Given the description of an element on the screen output the (x, y) to click on. 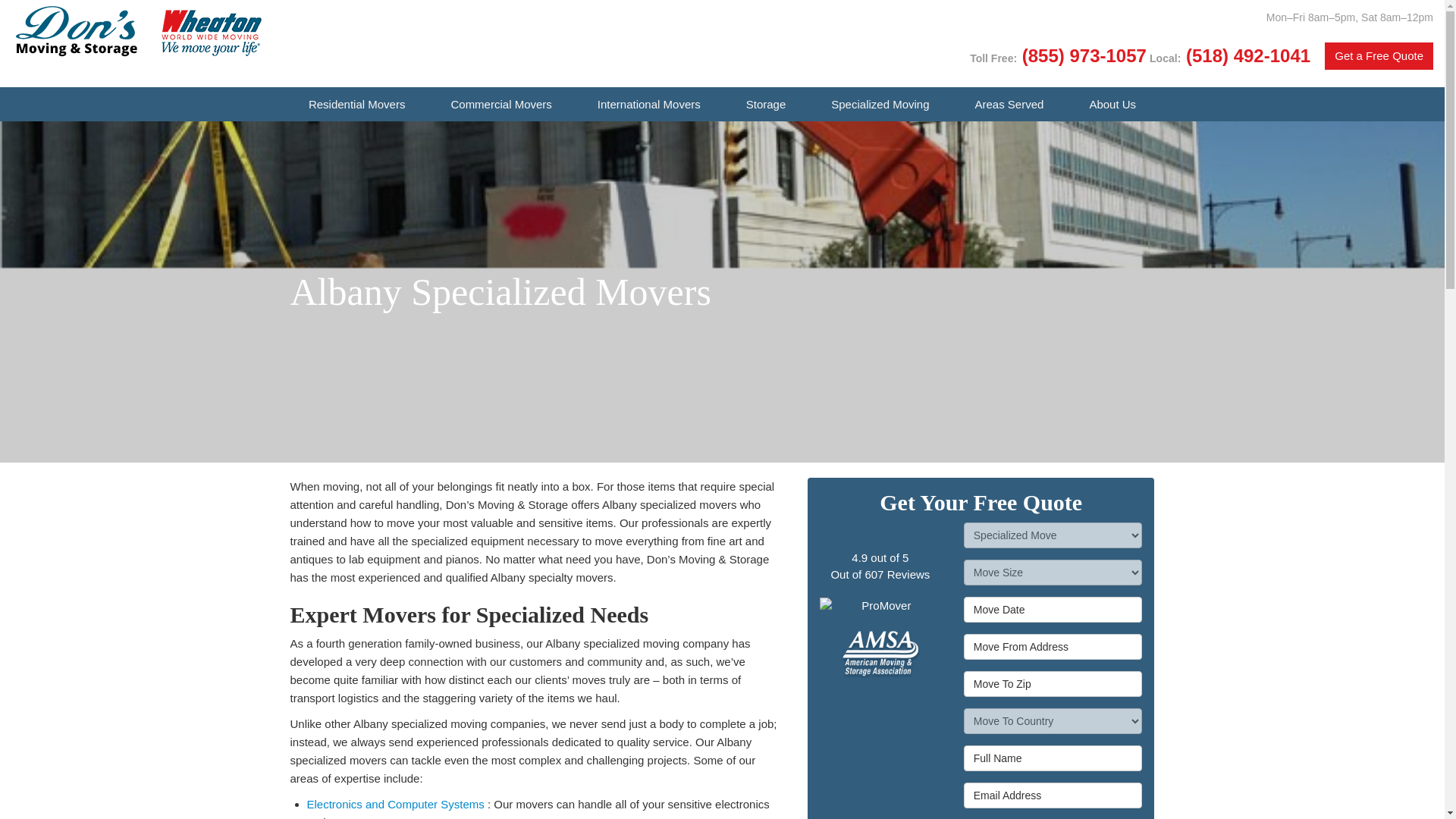
Get a Free Quote (1378, 55)
Get a Free Quote (1378, 55)
Areas Served (1009, 103)
International Movers (649, 103)
Specialized Moving (880, 103)
Storage (766, 103)
About Us (1111, 103)
Commercial Movers (500, 103)
Residential Movers (356, 103)
